Given the description of an element on the screen output the (x, y) to click on. 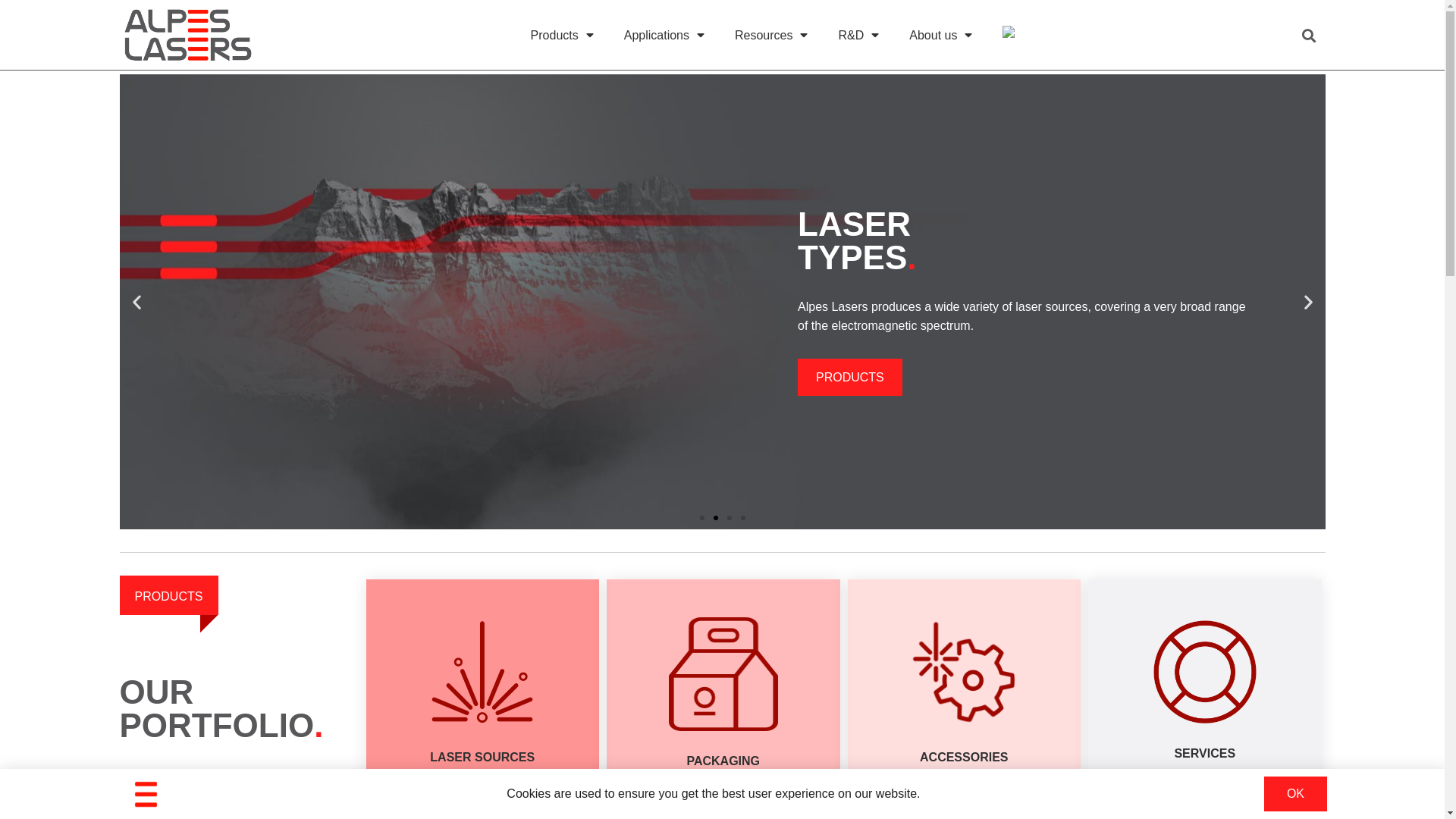
R&D Element type: text (858, 35)
OK Element type: text (1295, 793)
Applications Element type: text (663, 35)
Web Store Element type: hover (1009, 31)
Resources Element type: text (770, 35)
About us Element type: text (940, 35)
Products Element type: text (561, 35)
